Given the description of an element on the screen output the (x, y) to click on. 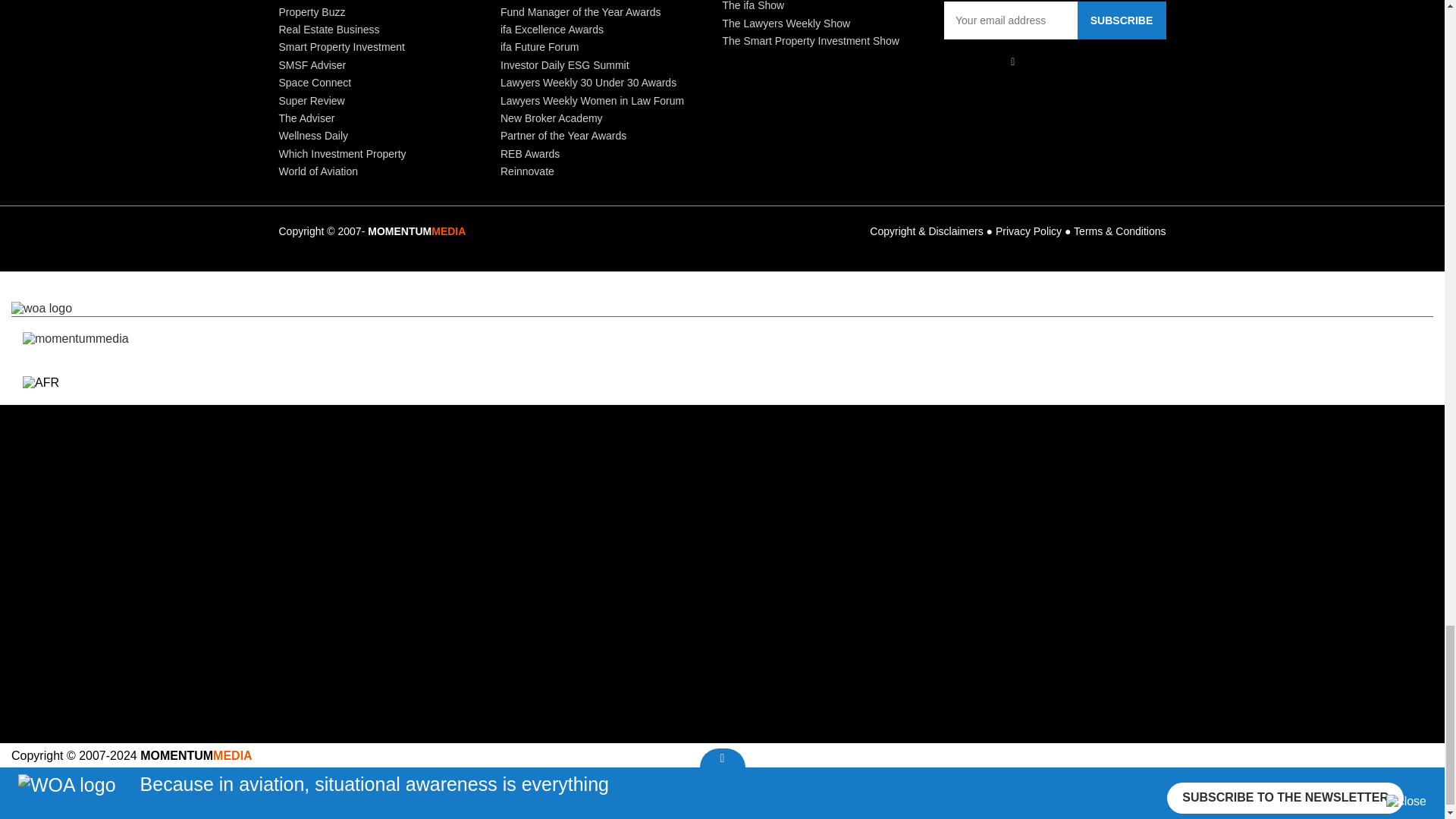
SUBSCRIBE (1121, 20)
